Given the description of an element on the screen output the (x, y) to click on. 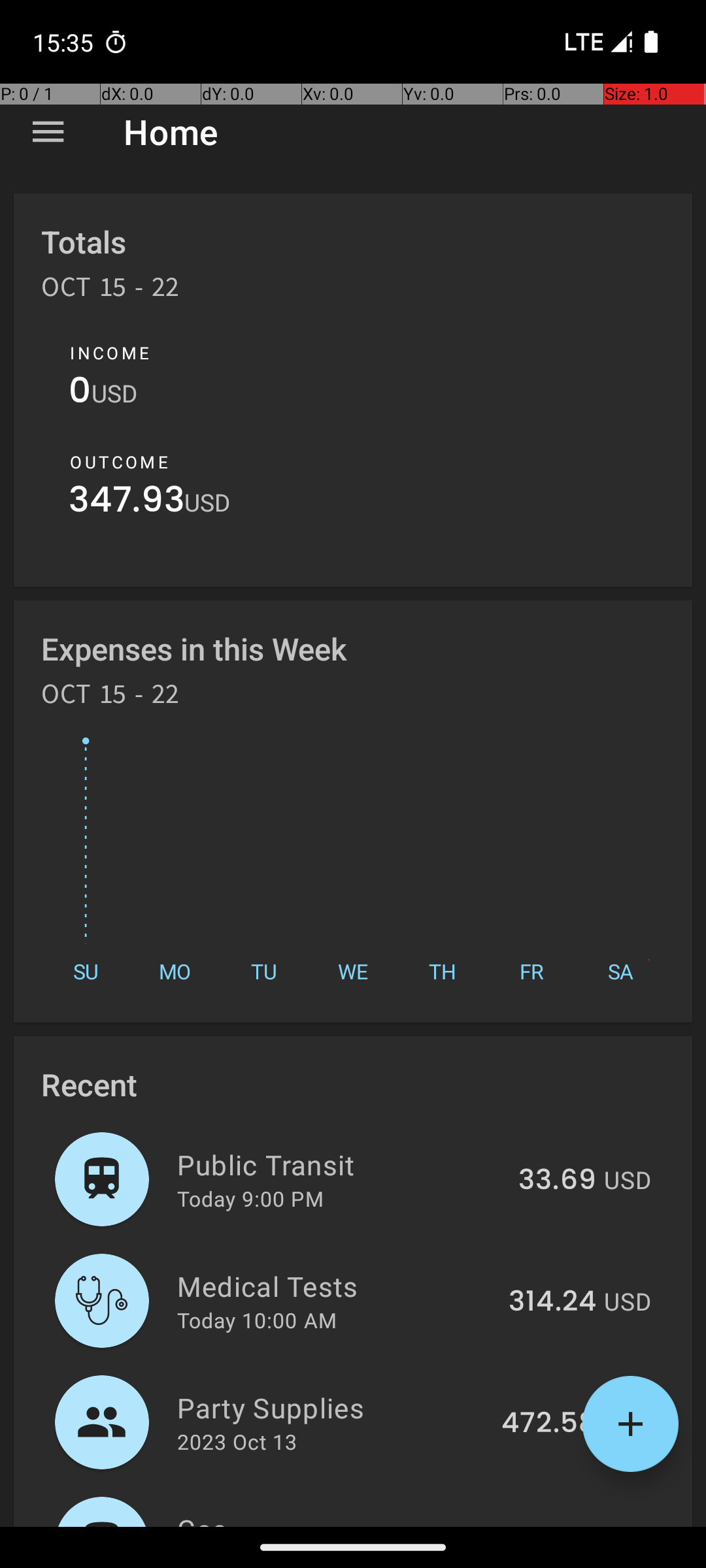
347.93 Element type: android.widget.TextView (126, 502)
Public Transit Element type: android.widget.TextView (340, 1164)
33.69 Element type: android.widget.TextView (556, 1180)
Medical Tests Element type: android.widget.TextView (335, 1285)
Today 10:00 AM Element type: android.widget.TextView (256, 1320)
314.24 Element type: android.widget.TextView (551, 1301)
472.58 Element type: android.widget.TextView (548, 1423)
324.86 Element type: android.widget.TextView (548, 1524)
